Given the description of an element on the screen output the (x, y) to click on. 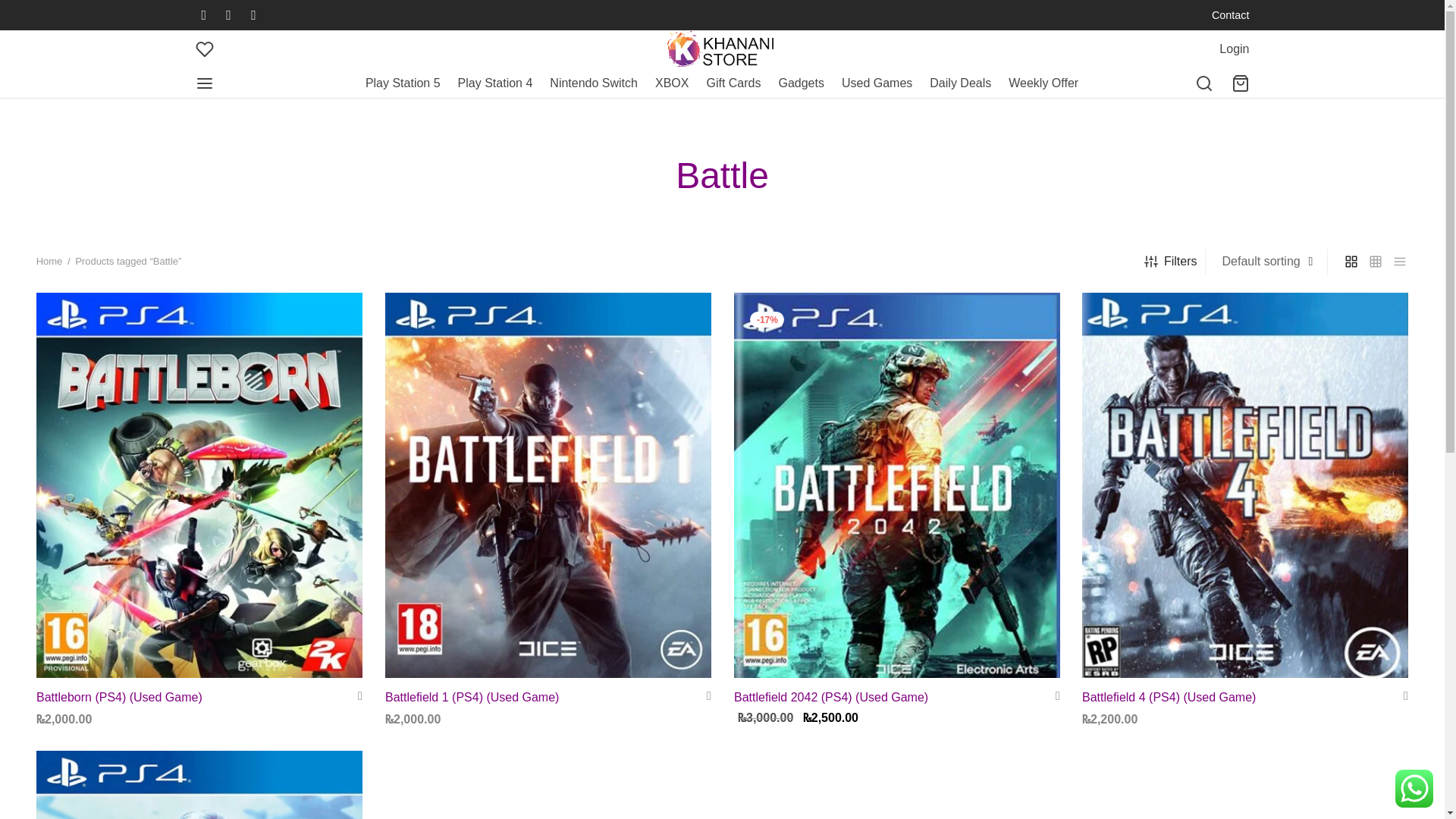
Used Games (876, 83)
Cart (1240, 83)
Nintendo Switch (593, 83)
facebook (203, 14)
Play Station 5 (403, 83)
Gift Cards (733, 83)
instagram (253, 14)
Play Station 4 (495, 83)
XBOX (671, 83)
Contact (1230, 14)
Login (1234, 48)
twitter (228, 14)
Gadgets (800, 83)
